Given the description of an element on the screen output the (x, y) to click on. 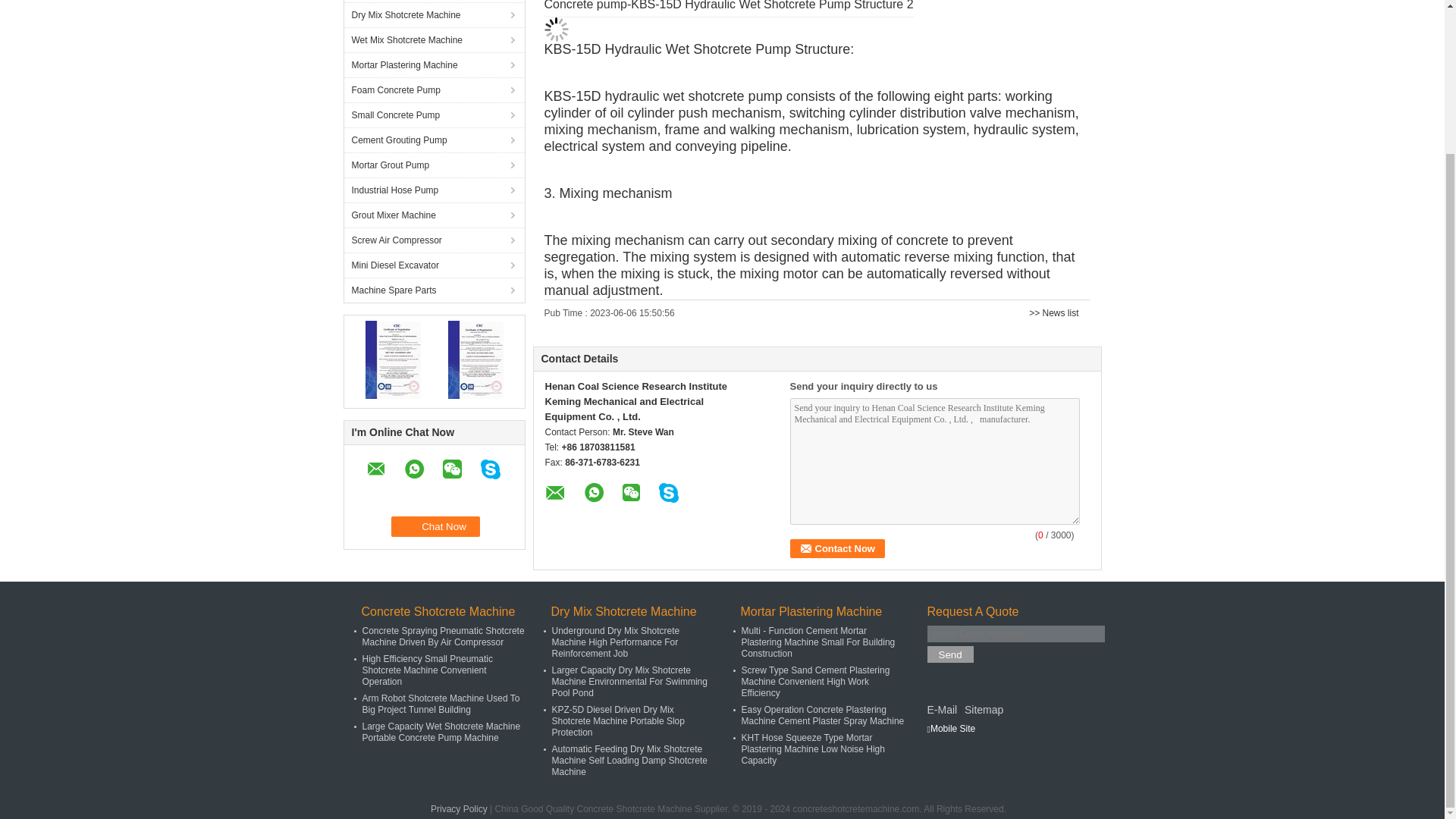
Concrete Shotcrete Machine (433, 1)
Foam Concrete Pump (433, 89)
Small Concrete Pump (433, 114)
Dry Mix Shotcrete Machine (433, 14)
Cement Grouting Pump (433, 139)
Mortar Plastering Machine (433, 64)
Wet Mix Shotcrete Machine (433, 39)
Chat Now (435, 526)
Contact Now (837, 547)
